Given the description of an element on the screen output the (x, y) to click on. 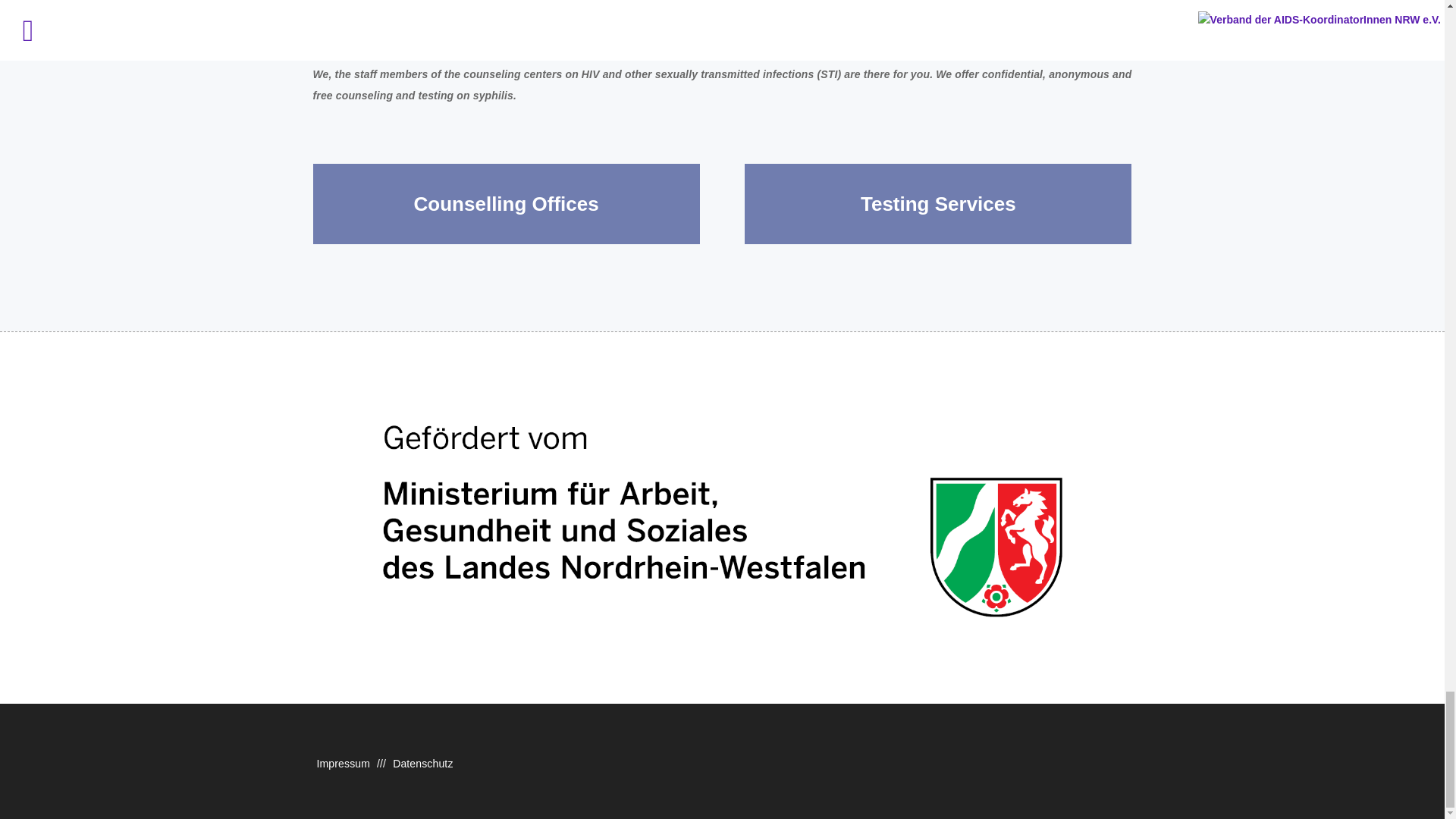
Datenschutz (422, 763)
Impressum (343, 763)
